Given the description of an element on the screen output the (x, y) to click on. 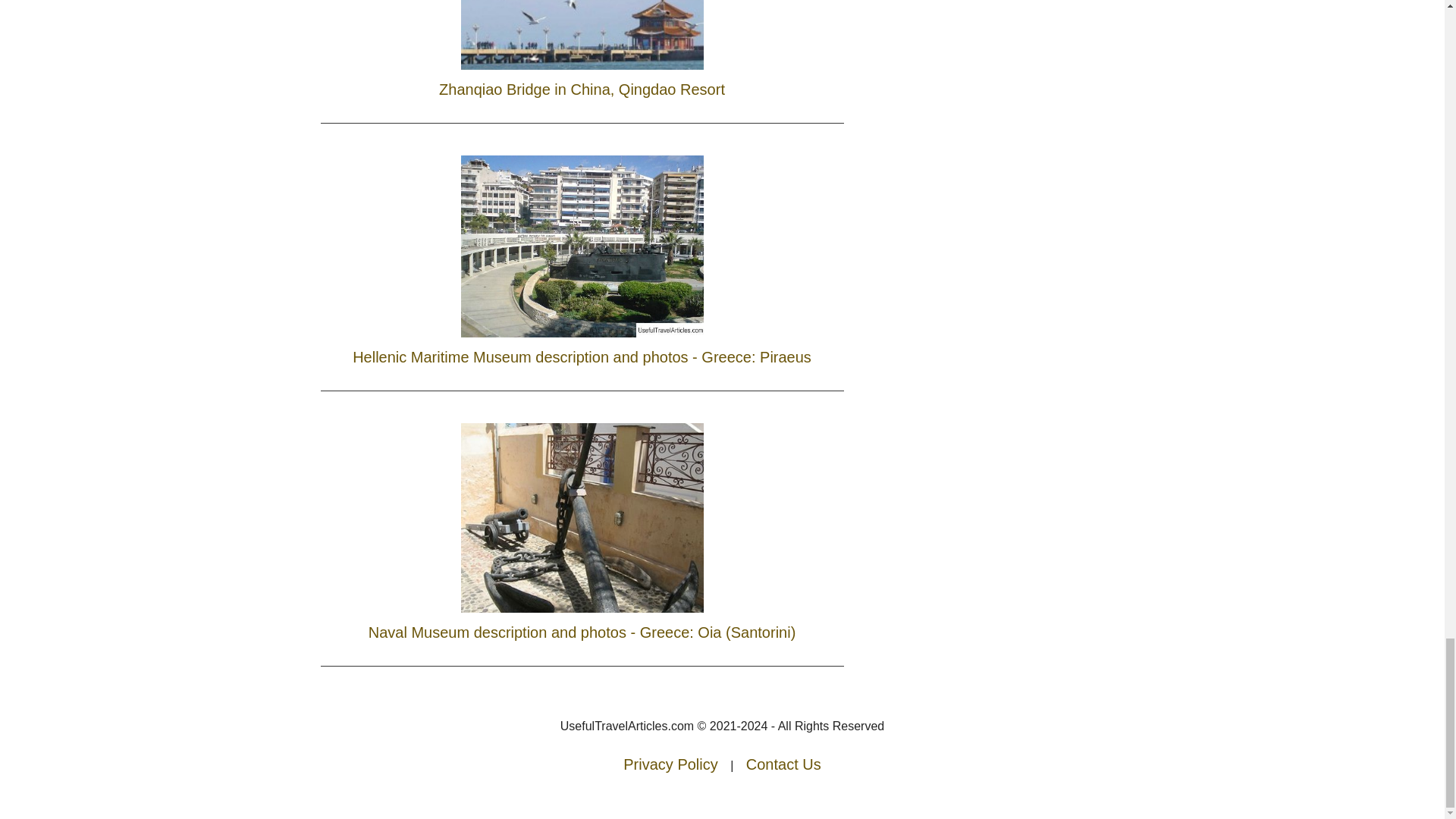
Zhanqiao Bridge in China, Qingdao Resort (581, 53)
